Given the description of an element on the screen output the (x, y) to click on. 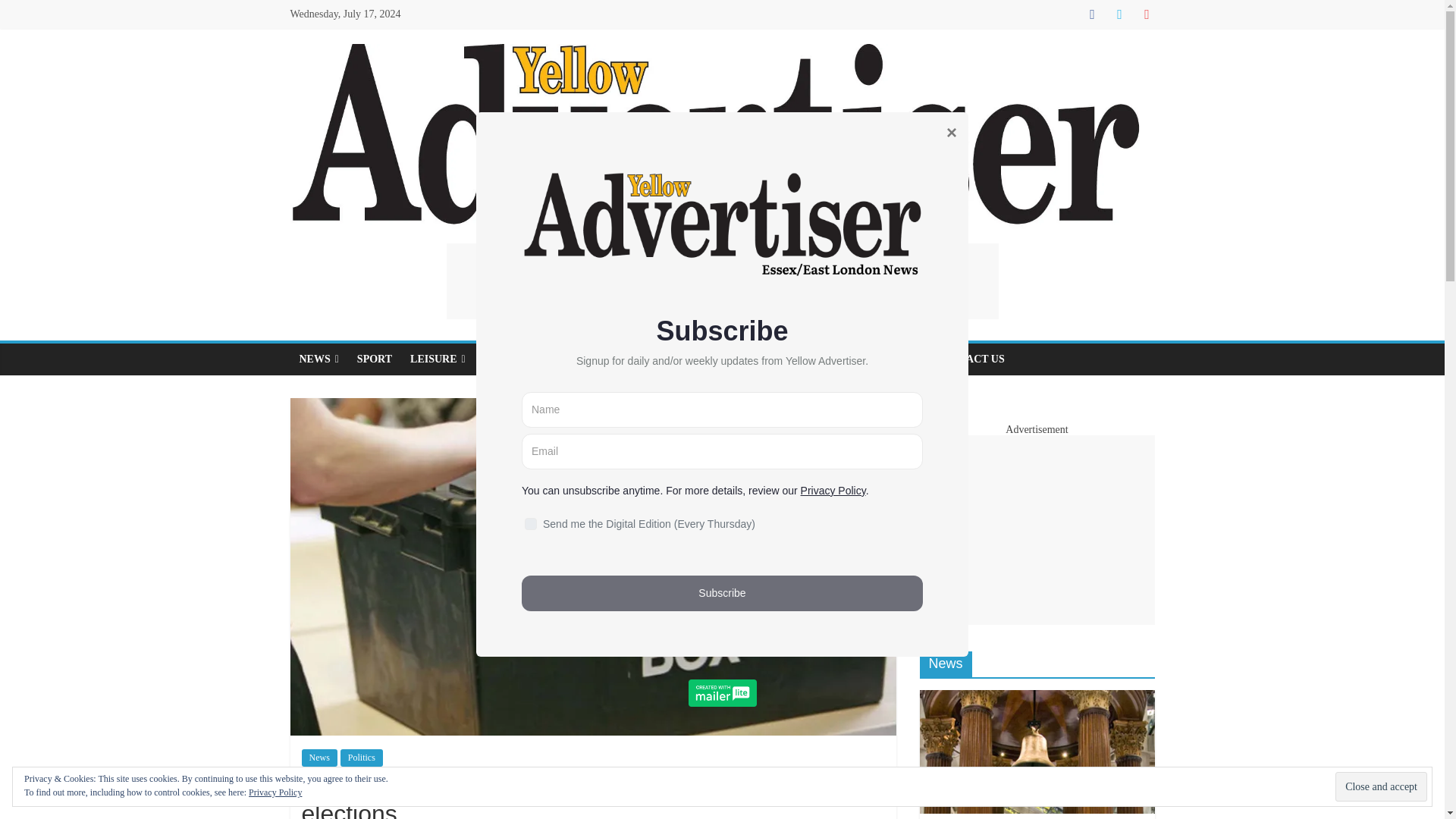
FEATURES (594, 359)
Close and accept (1380, 786)
DIGITAL EDITION (811, 359)
COLUMNIST (515, 359)
NEWS (318, 359)
MORE (897, 359)
SPORT (374, 359)
Advertisement (721, 281)
LEISURE (437, 359)
